Given the description of an element on the screen output the (x, y) to click on. 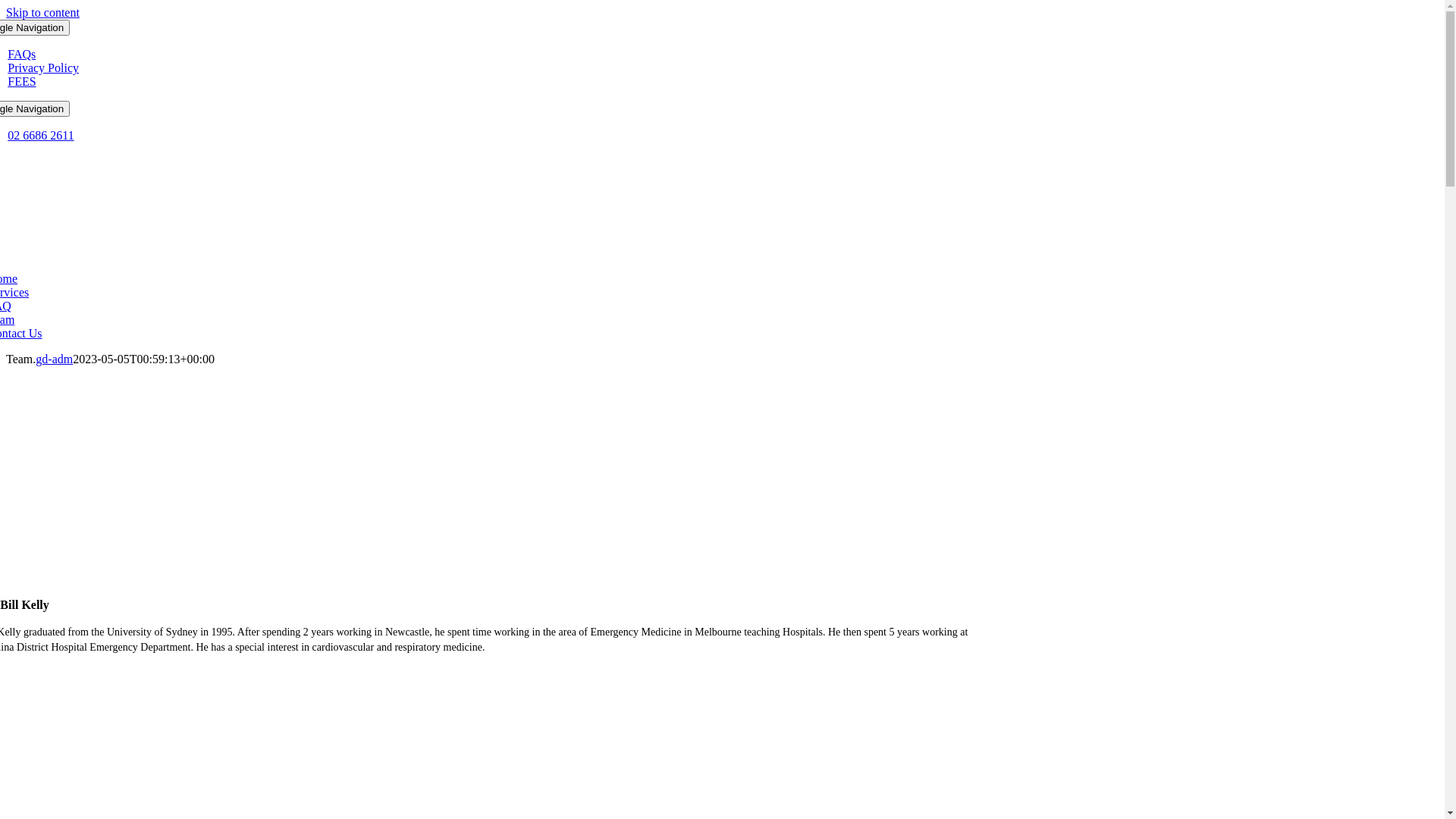
FEES Element type: text (21, 81)
Skip to content Element type: text (42, 12)
gd-adm Element type: text (53, 358)
williamkelly Element type: hover (483, 479)
02 6686 2611 Element type: text (40, 134)
Privacy Policy Element type: text (42, 67)
FAQs Element type: text (21, 53)
